Given the description of an element on the screen output the (x, y) to click on. 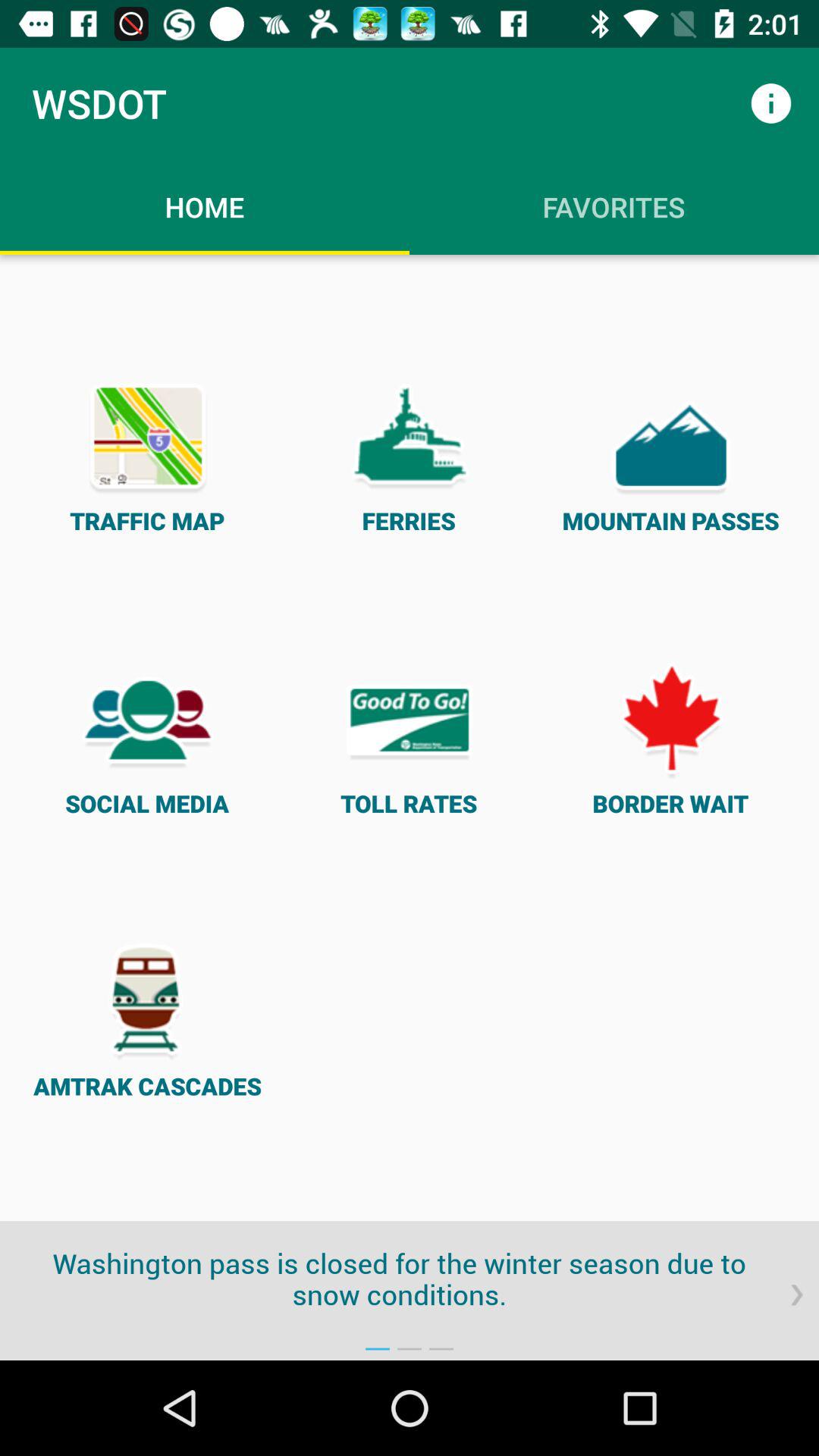
open item below the traffic map item (147, 737)
